Given the description of an element on the screen output the (x, y) to click on. 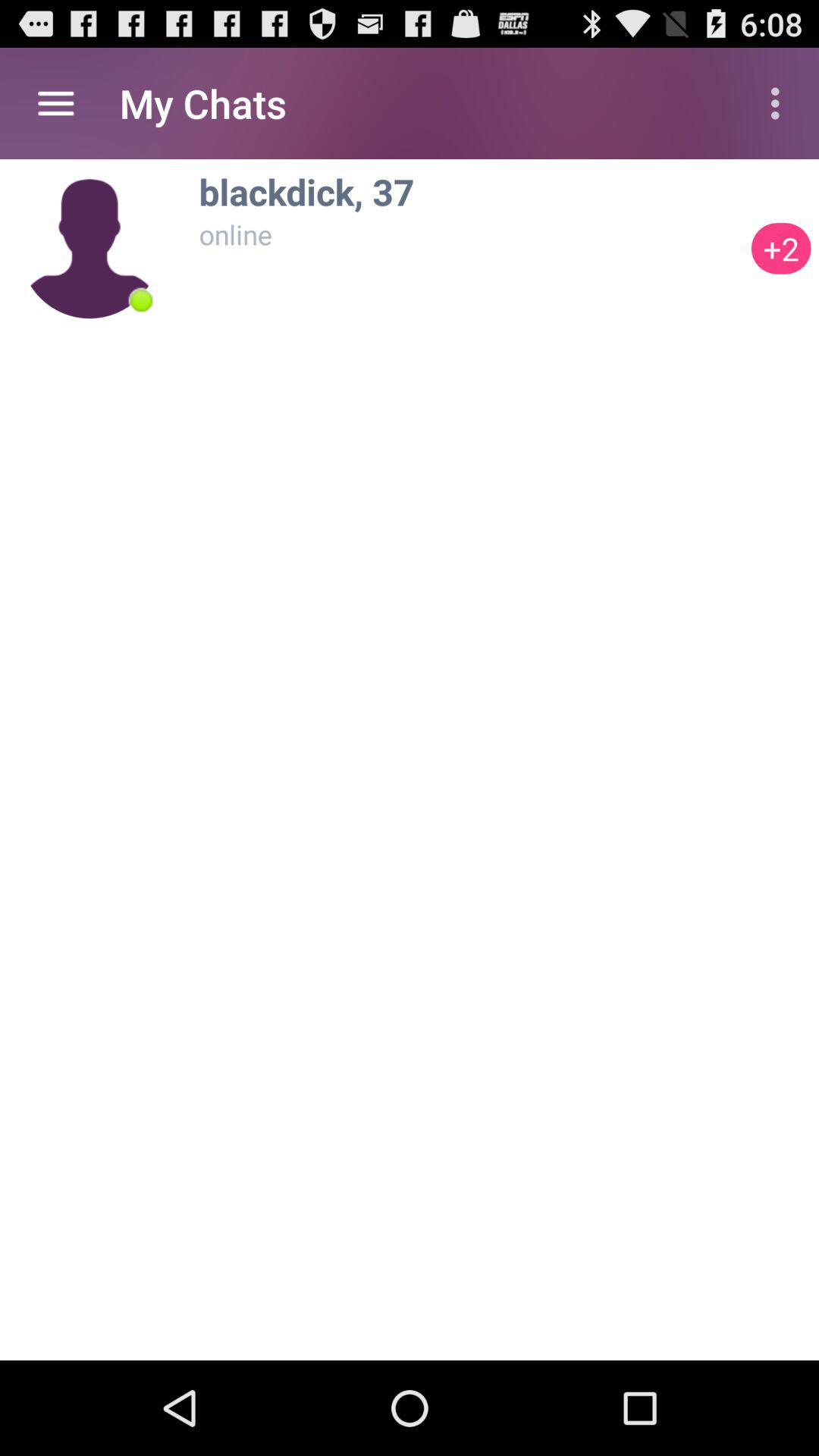
launch the item next to the +2 item (471, 191)
